Given the description of an element on the screen output the (x, y) to click on. 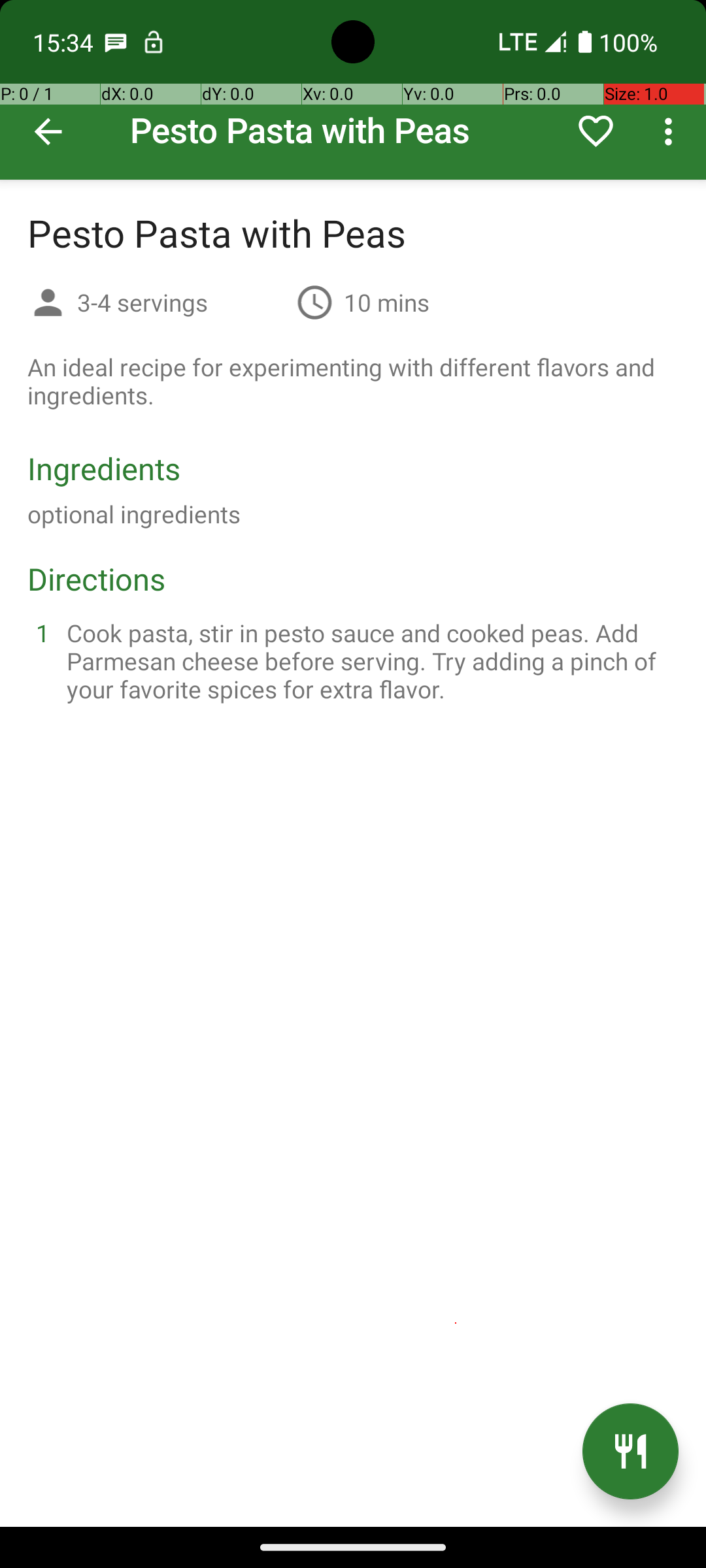
Pesto Pasta with Peas Element type: android.widget.FrameLayout (353, 89)
optional ingredients Element type: android.widget.TextView (133, 513)
Cook pasta, stir in pesto sauce and cooked peas. Add Parmesan cheese before serving. Try adding a pinch of your favorite spices for extra flavor. Element type: android.widget.TextView (368, 660)
